Given the description of an element on the screen output the (x, y) to click on. 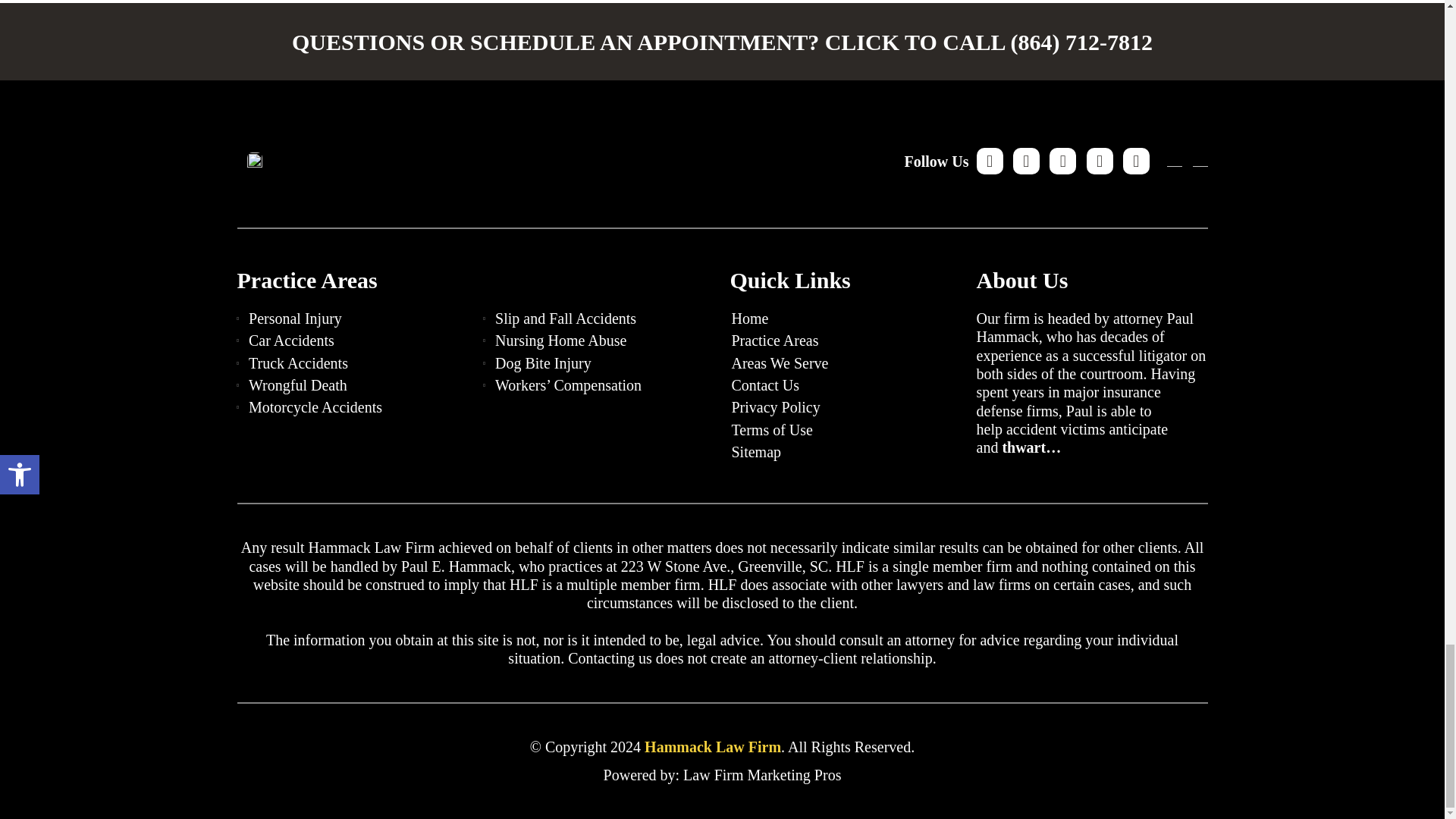
Hammack Law Firm (712, 746)
